Given the description of an element on the screen output the (x, y) to click on. 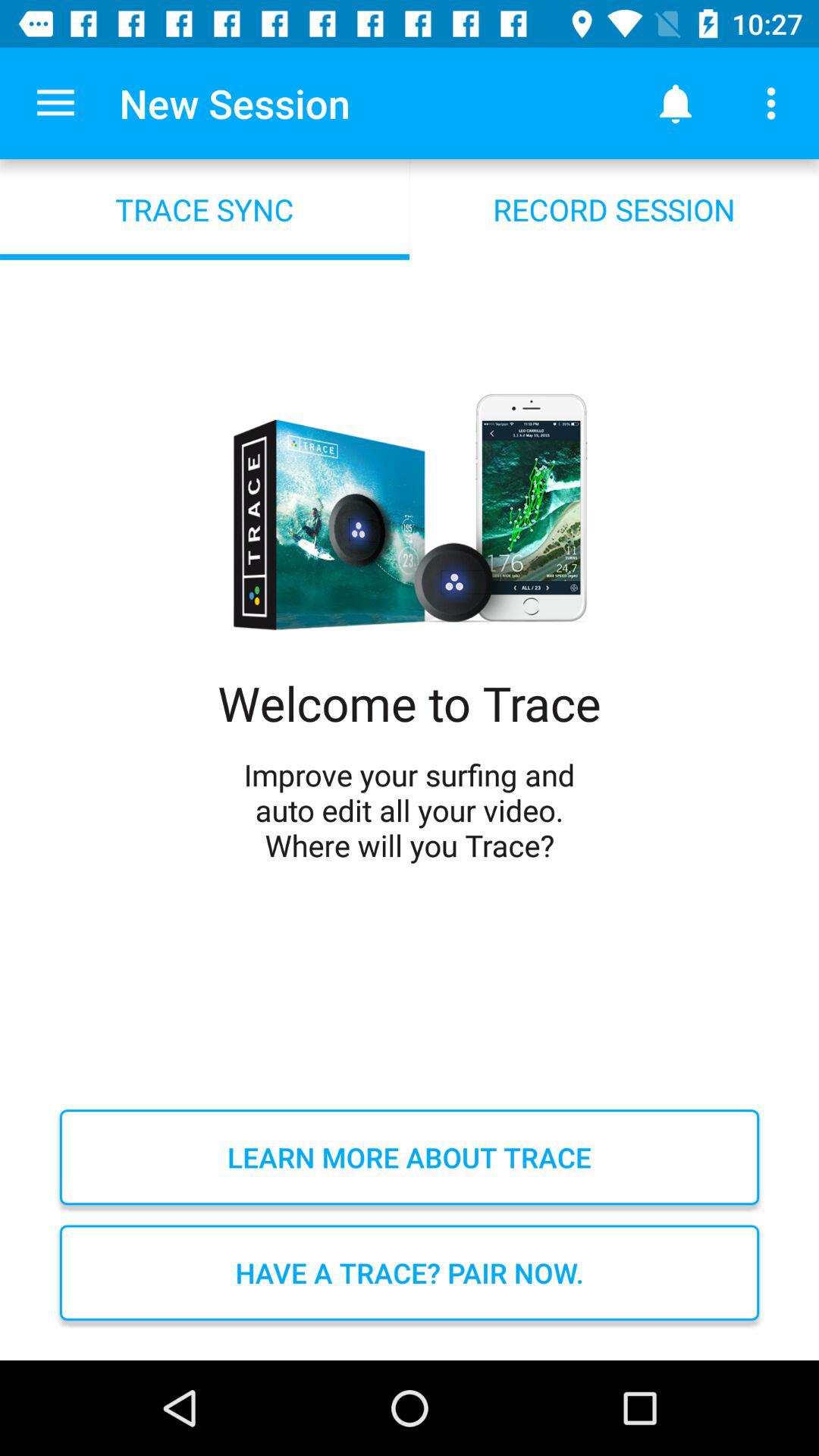
launch icon above trace sync item (55, 103)
